Given the description of an element on the screen output the (x, y) to click on. 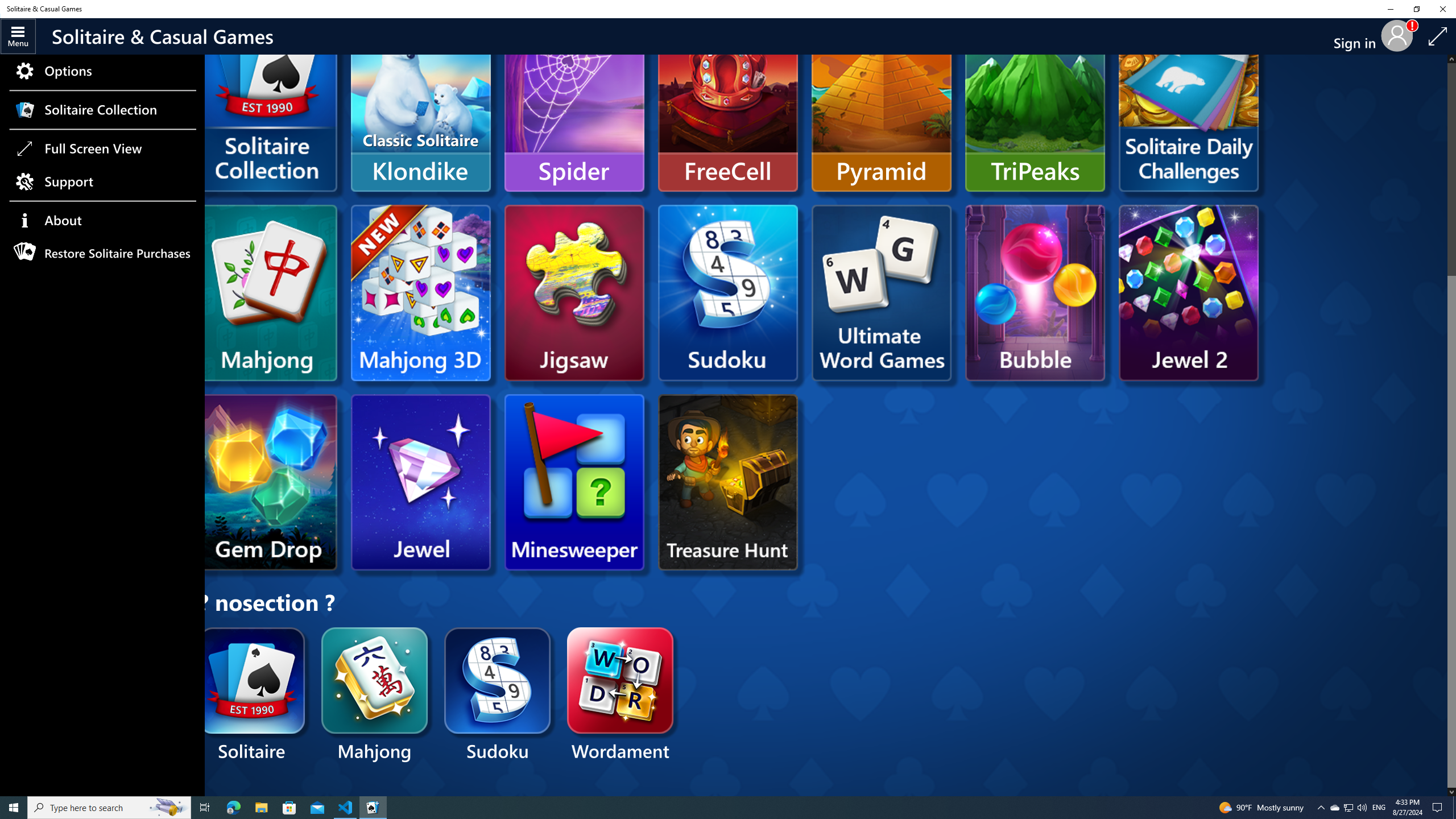
Microsoft Solitaire Collection (271, 120)
Challenges (1187, 103)
Full Screen View (1437, 36)
Menu (18, 36)
TriPeaks (1035, 103)
Restore Solitaire Purchases (102, 253)
FreeCell (727, 103)
